Given the description of an element on the screen output the (x, y) to click on. 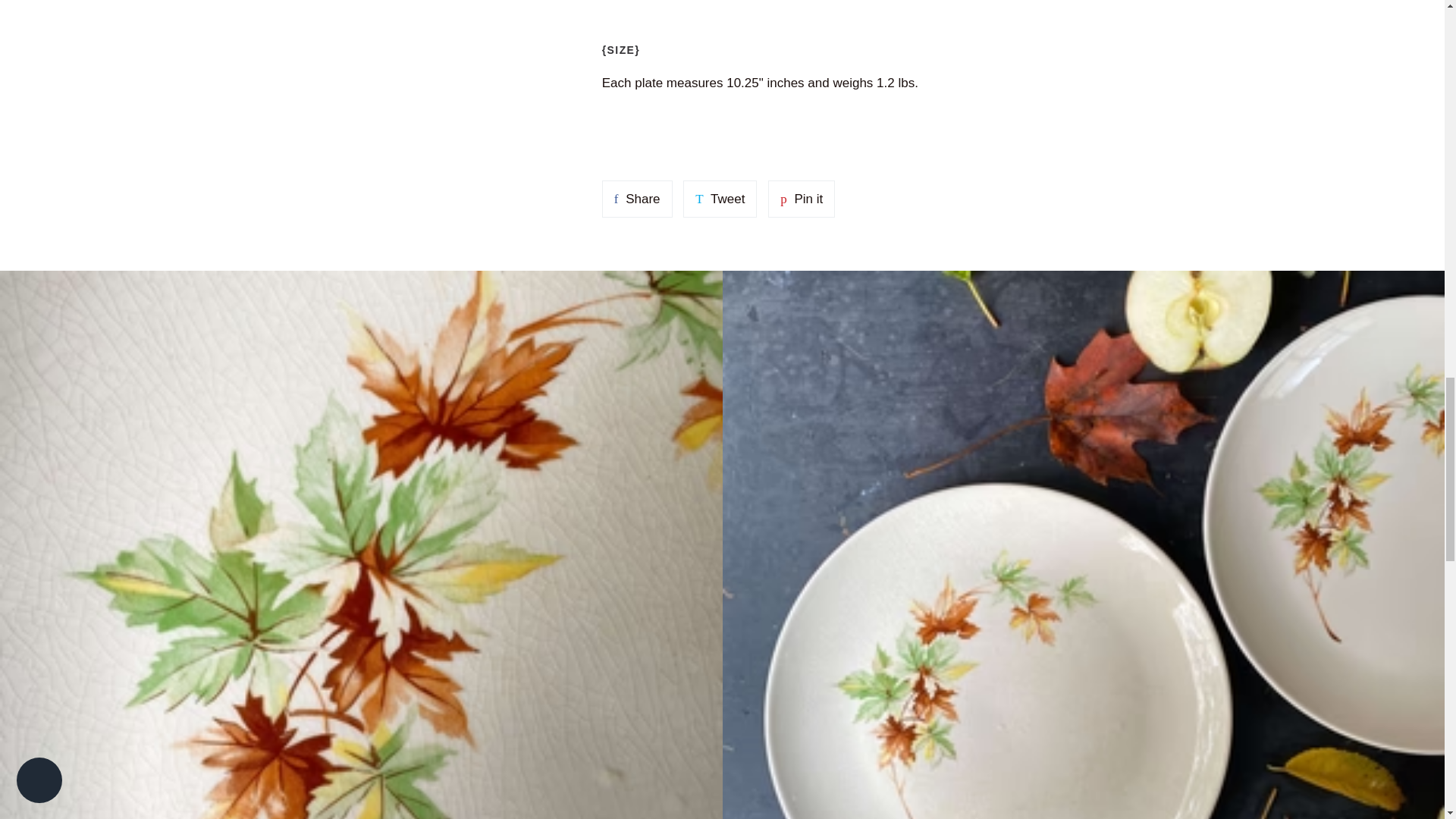
Tweet on Twitter (719, 198)
Pin on Pinterest (801, 198)
Share on Facebook (637, 198)
